Given the description of an element on the screen output the (x, y) to click on. 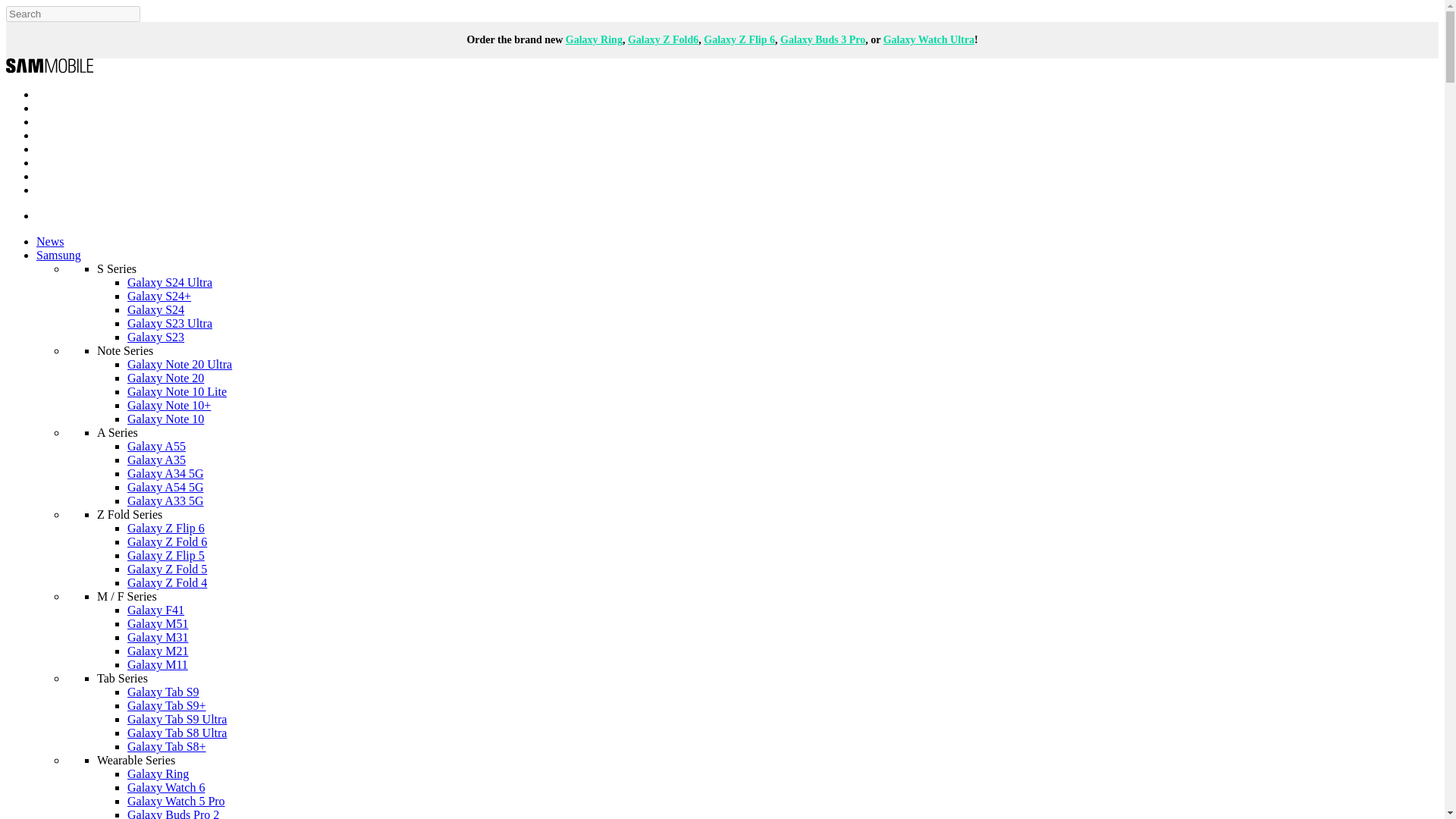
Samsung Galaxy S Series (116, 268)
Galaxy Ring (594, 39)
Galaxy Note 20 Ultra (179, 364)
Samsung (58, 254)
Galaxy S24 (156, 309)
Galaxy Note 10 (165, 418)
Galaxy A35 (157, 459)
Galaxy Z Flip 6 (166, 527)
Galaxy A33 5G (165, 500)
SamMobile logo (49, 68)
Galaxy Z Fold 6 (167, 541)
Galaxy Z Fold 5 (167, 568)
Galaxy S23 Ultra (170, 323)
Galaxy Z Flip 6 (738, 39)
Galaxy S24 Ultra (170, 282)
